Given the description of an element on the screen output the (x, y) to click on. 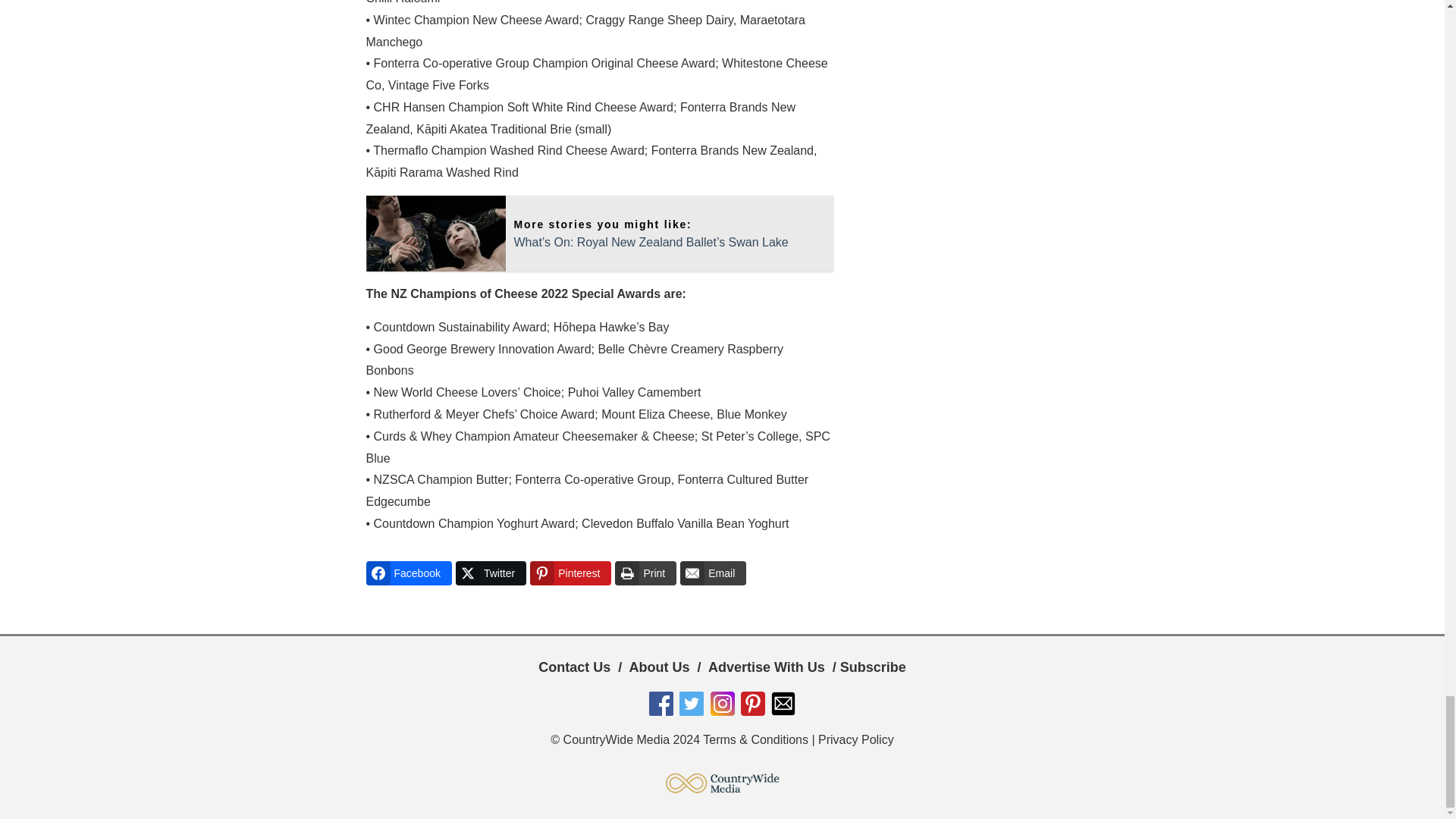
Share on Print (645, 573)
Pinterest (570, 573)
Share on Email (712, 573)
Facebook (408, 573)
Share on Facebook (408, 573)
About Us (659, 667)
Share on Twitter (490, 573)
Advertise With Us (766, 667)
Contact Us (574, 667)
Print (645, 573)
Share on Pinterest (570, 573)
Twitter (490, 573)
Email (712, 573)
